Given the description of an element on the screen output the (x, y) to click on. 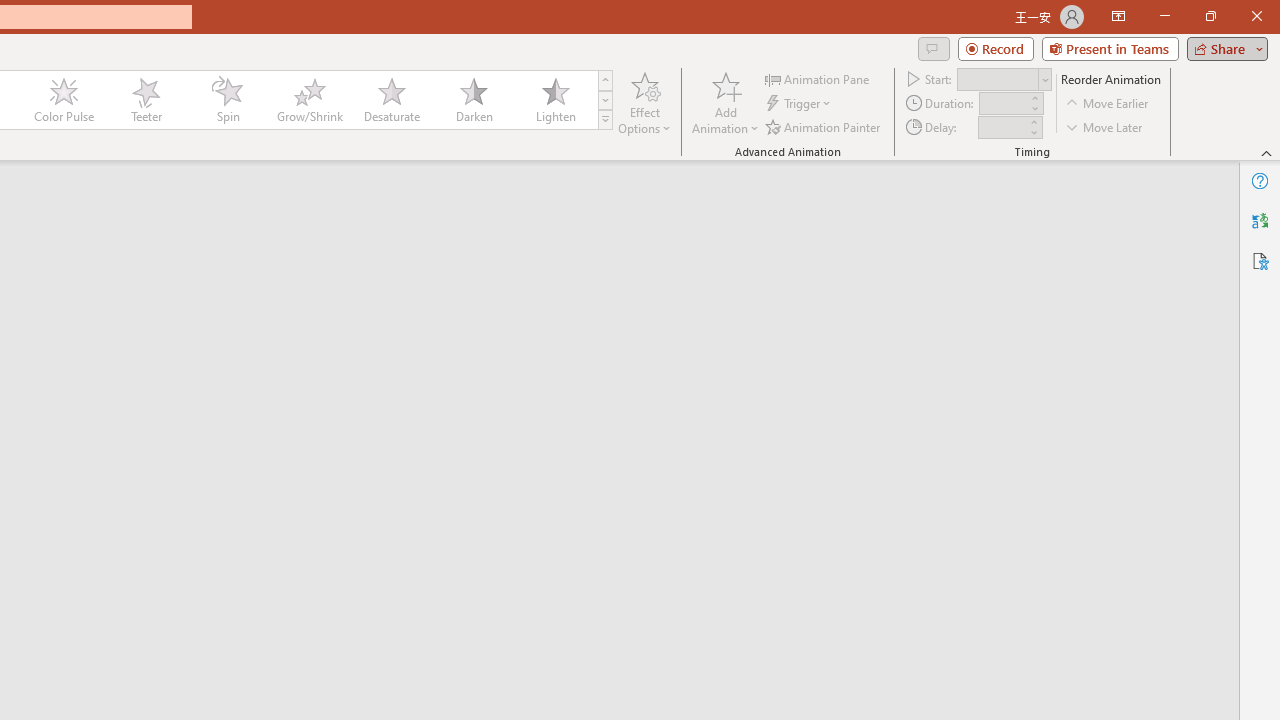
Move Later (1105, 126)
Animation Duration (1003, 103)
Animation Painter (824, 126)
Color Pulse (63, 100)
Class: NetUIImage (605, 119)
Restore Down (1210, 16)
Spin (227, 100)
